Given the description of an element on the screen output the (x, y) to click on. 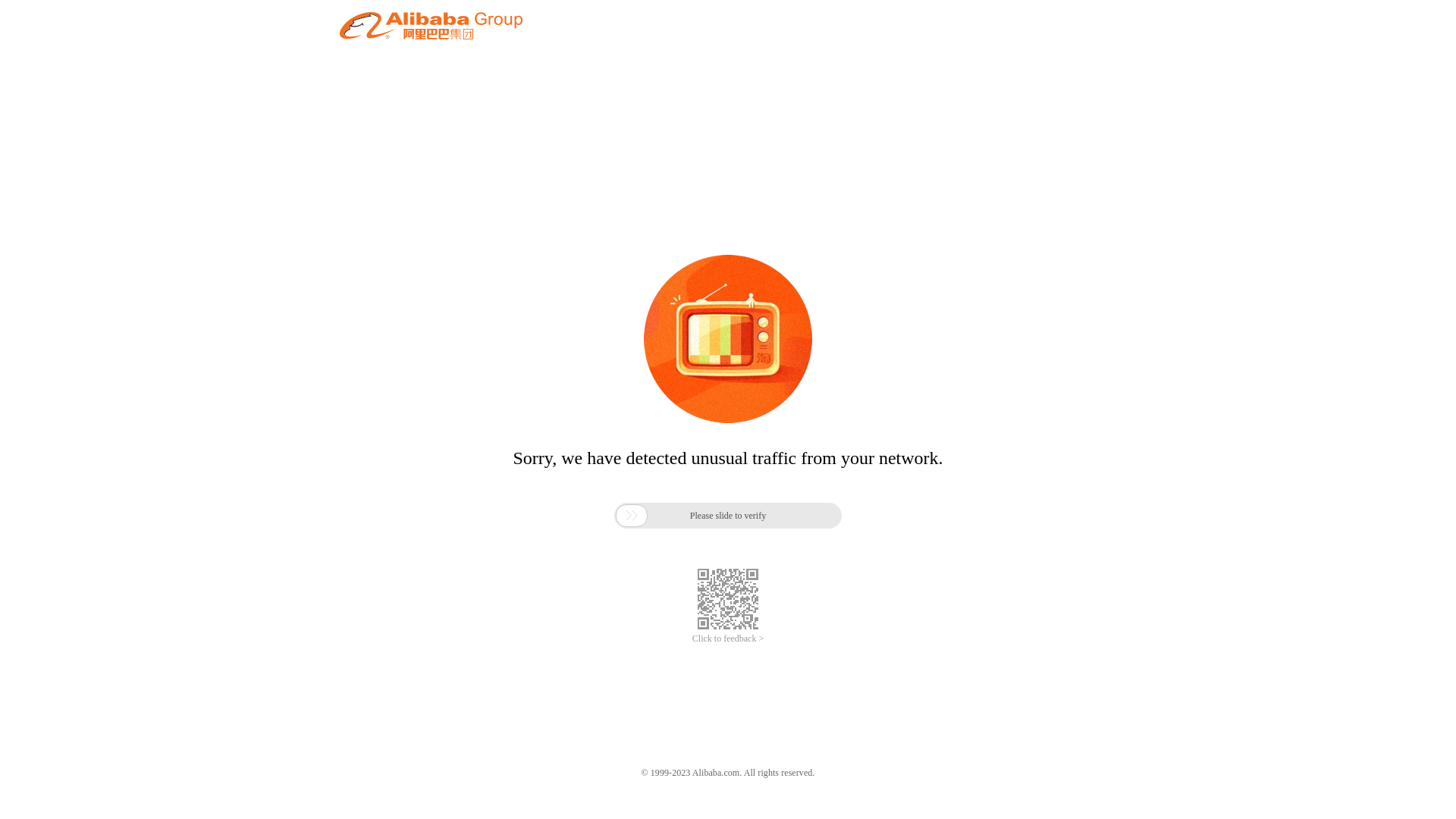
Click to feedback > Element type: text (727, 638)
